Given the description of an element on the screen output the (x, y) to click on. 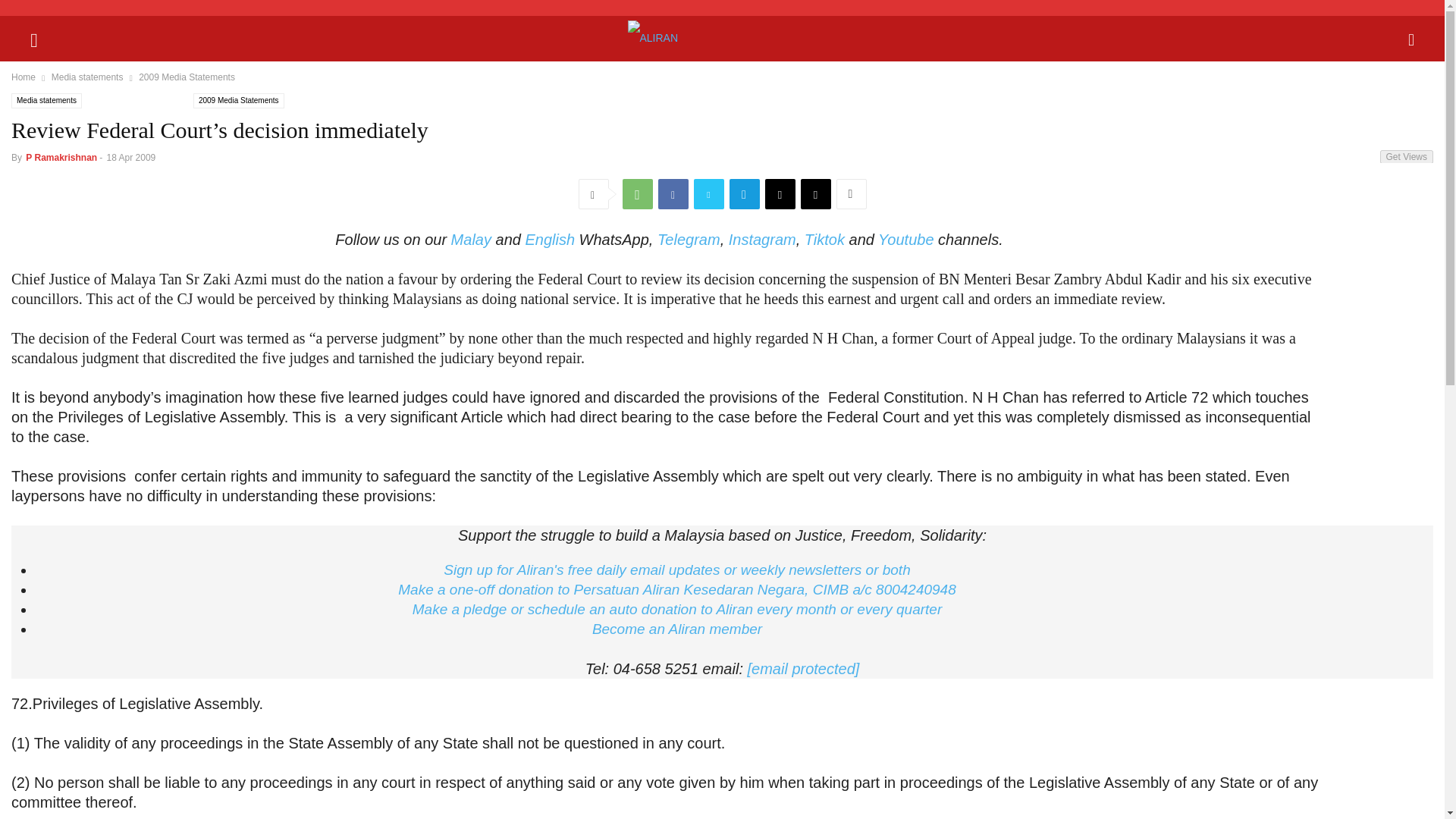
2009 Media Statements (238, 100)
2009 Media Statements (186, 77)
Media statements (86, 77)
P Ramakrishnan (61, 157)
Twitter (708, 194)
Search (26, 11)
Home (22, 77)
Telegram (744, 194)
View all posts in 2009 Media Statements (186, 77)
WhatsApp (636, 194)
Media statements (46, 100)
Get Views (1406, 156)
Malay (471, 239)
Facebook (673, 194)
View all posts in Media statements (86, 77)
